Given the description of an element on the screen output the (x, y) to click on. 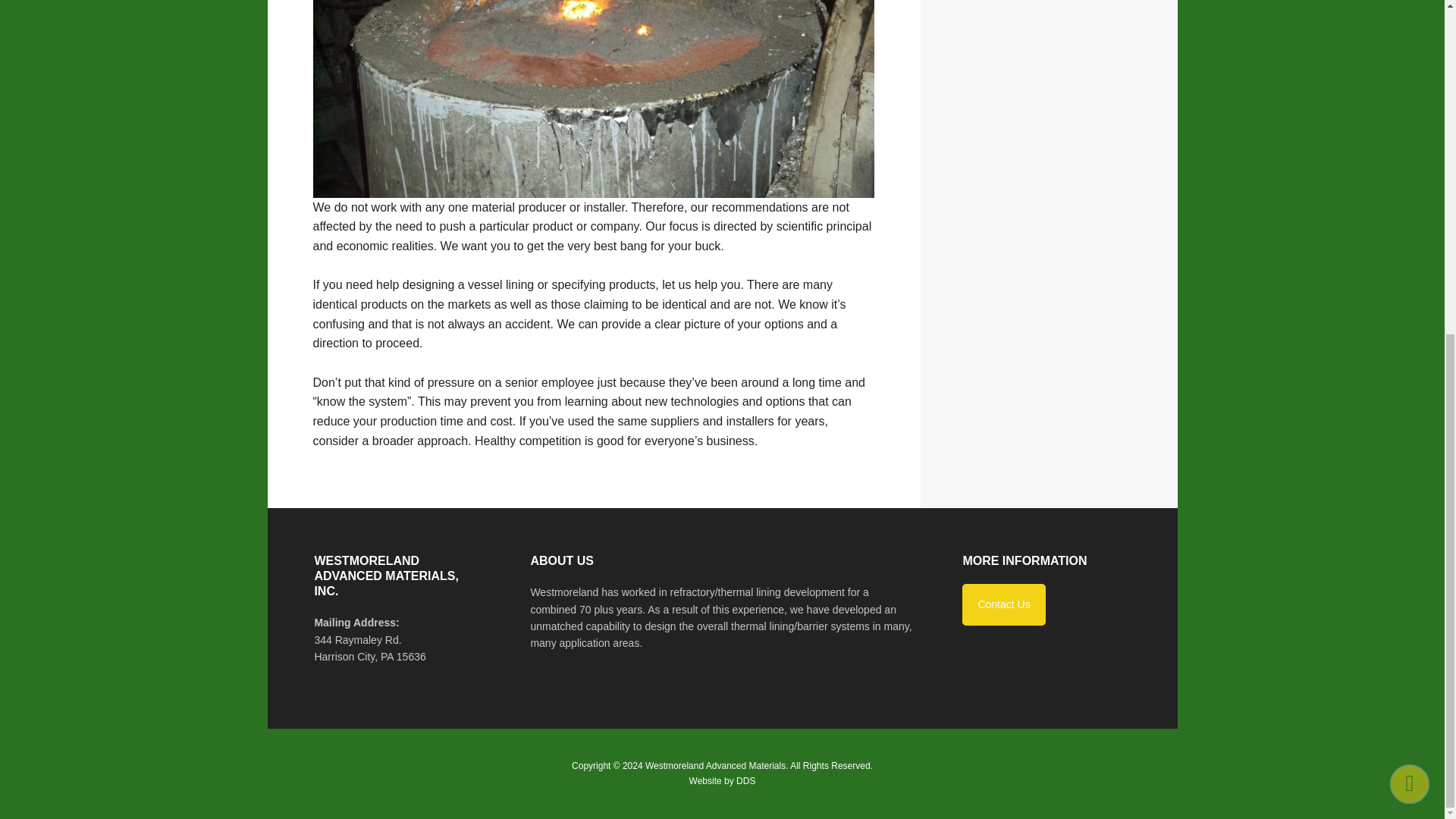
Scroll Page Up (1409, 225)
DDS (745, 780)
Westmoreland Advanced Materials (715, 765)
Contact Us (1003, 603)
Scroll Page Up (1409, 225)
